Given the description of an element on the screen output the (x, y) to click on. 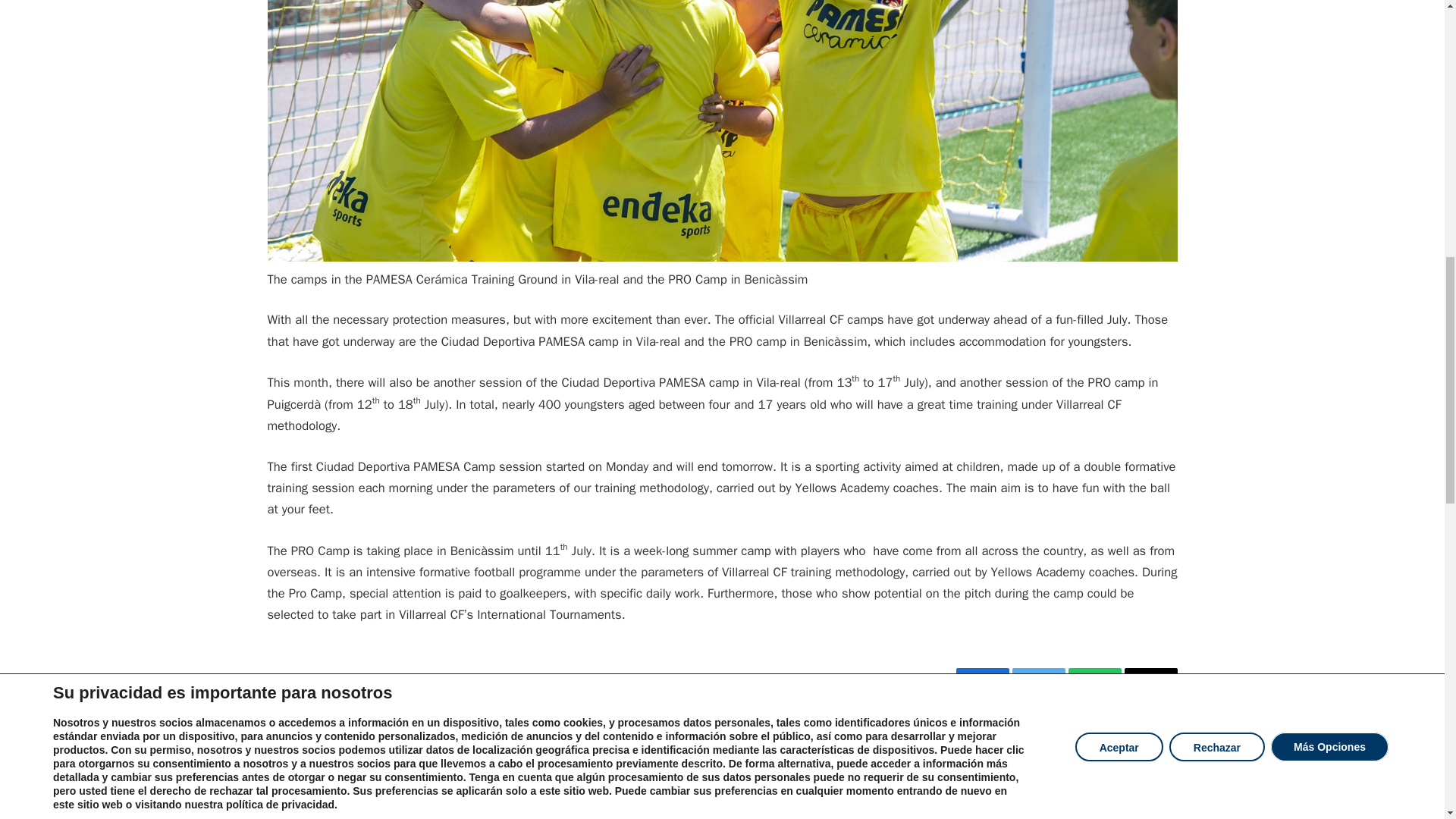
Share on Facebook (982, 680)
Sergi Cardona passes his medical (418, 797)
Share on WhatsApp (1094, 680)
Share via Email (1150, 680)
Sergi Cardona signs for Villarreal CF (721, 797)
Share on Twitter (1037, 680)
